Given the description of an element on the screen output the (x, y) to click on. 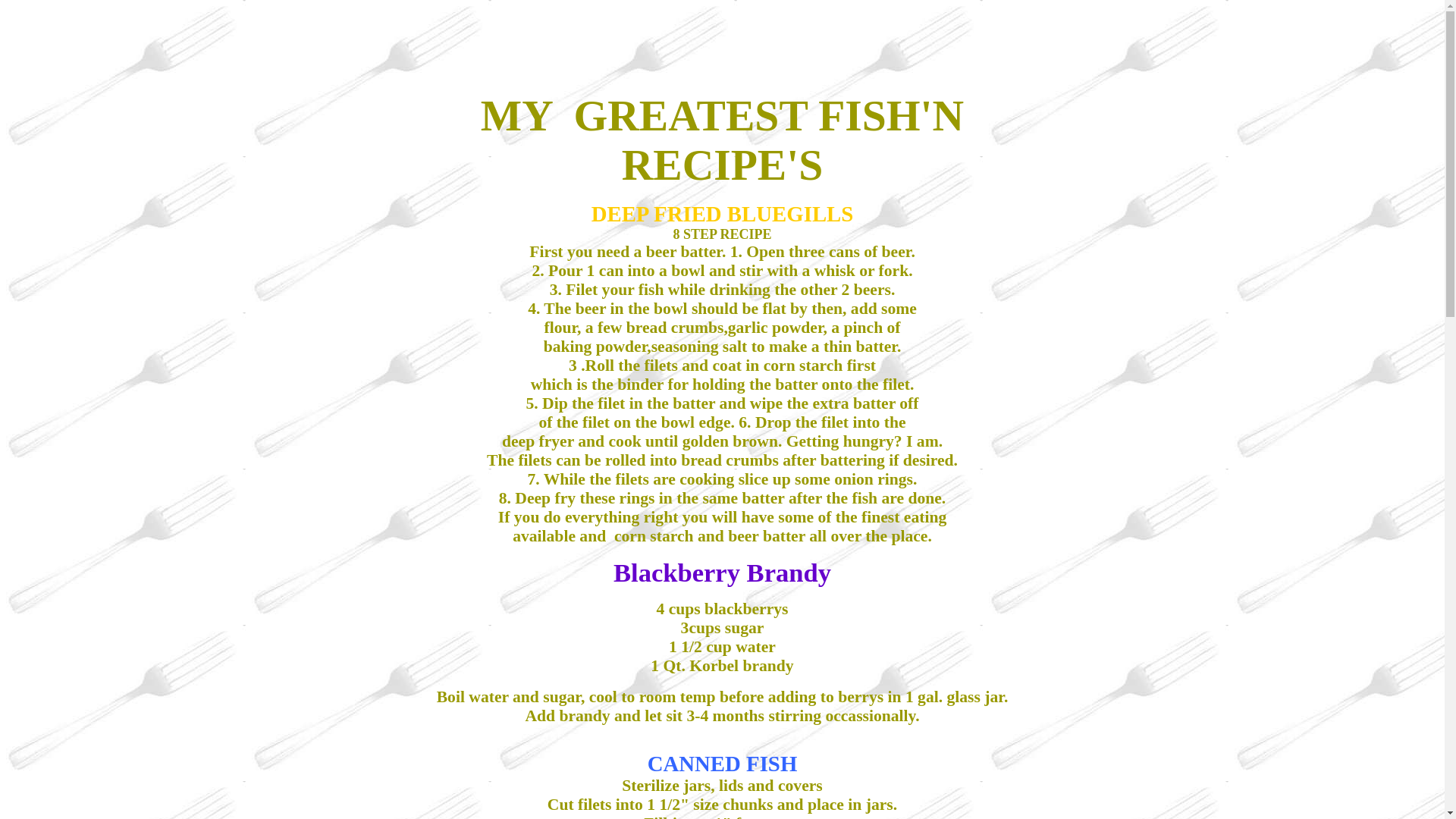
Advertisement Element type: hover (288, 40)
